Given the description of an element on the screen output the (x, y) to click on. 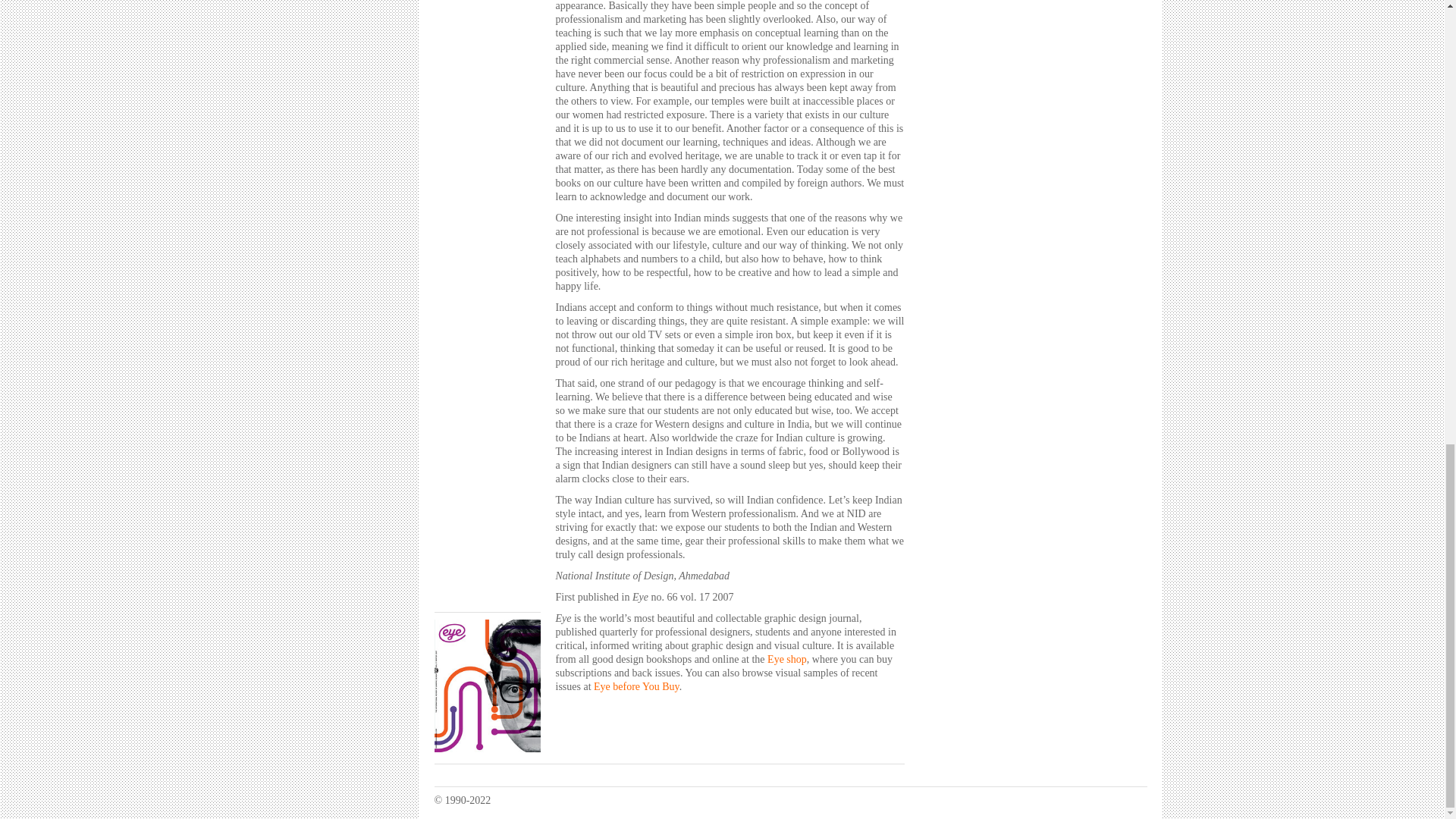
Eye shop (786, 659)
EYE66 by Eye magazine, on Flickr (486, 748)
Eye before You Buy (636, 686)
